Given the description of an element on the screen output the (x, y) to click on. 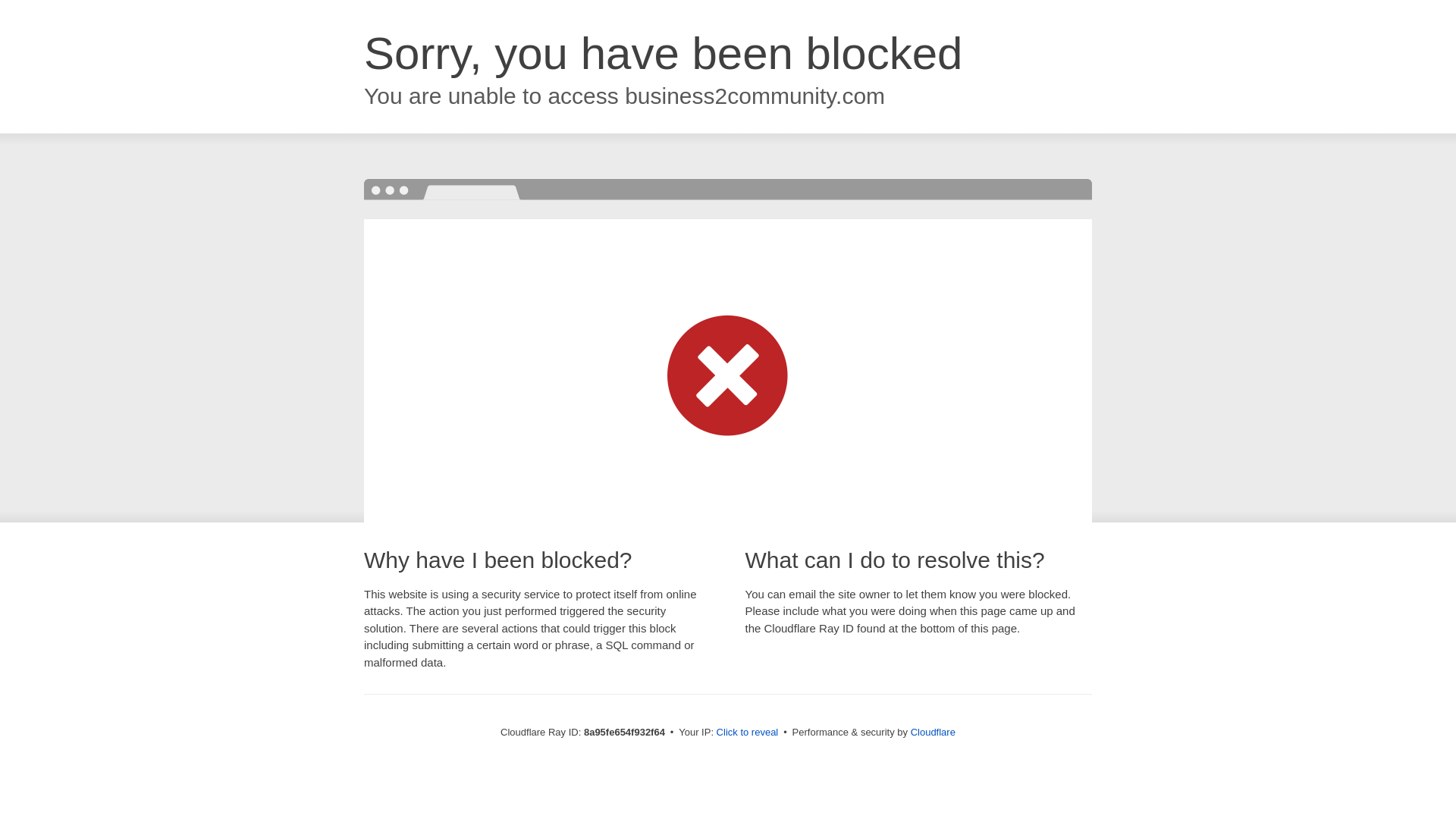
Cloudflare (933, 731)
Click to reveal (747, 732)
